Given the description of an element on the screen output the (x, y) to click on. 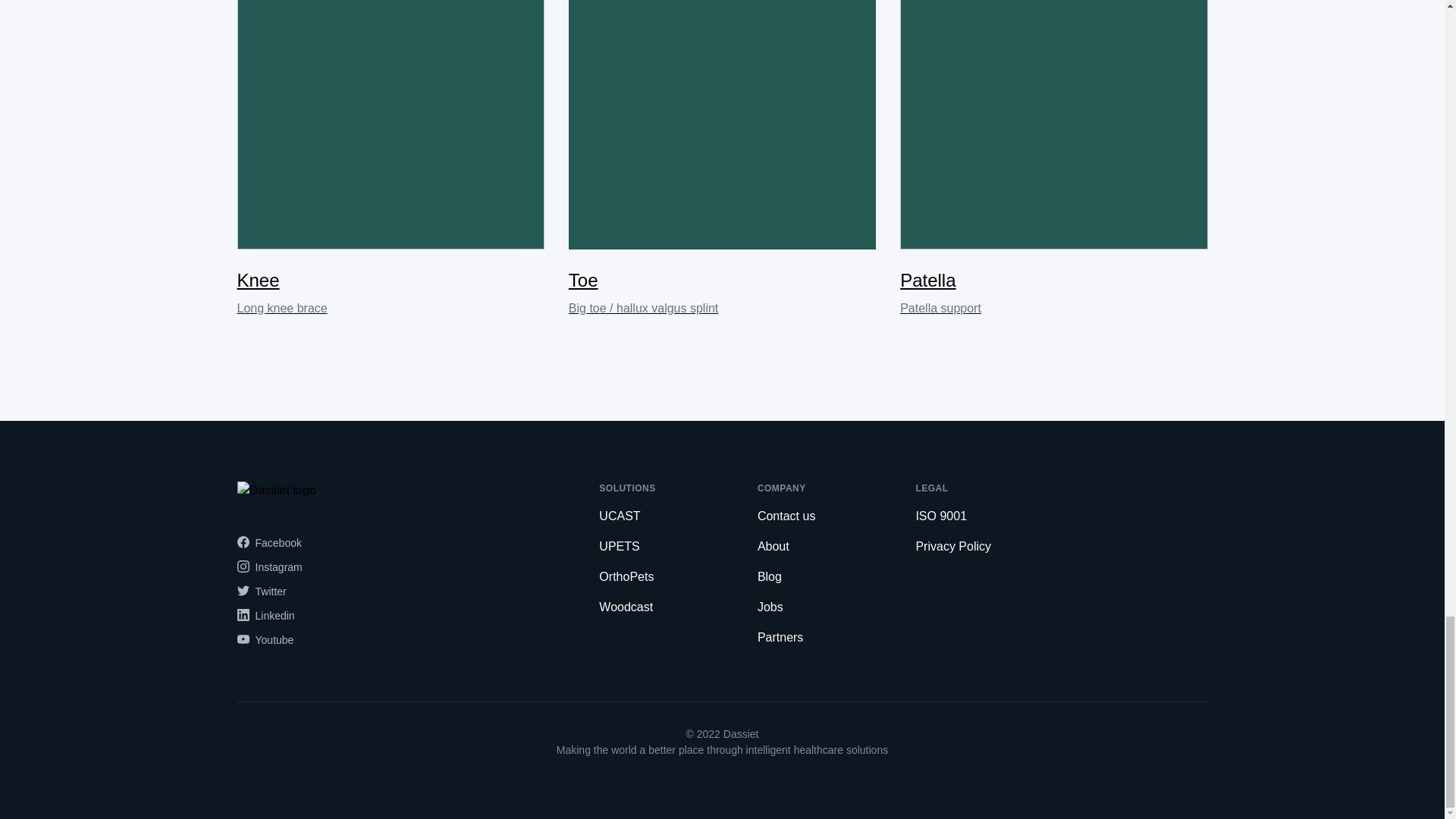
Twitter (260, 590)
Facebook (268, 541)
Instagram (389, 158)
